Given the description of an element on the screen output the (x, y) to click on. 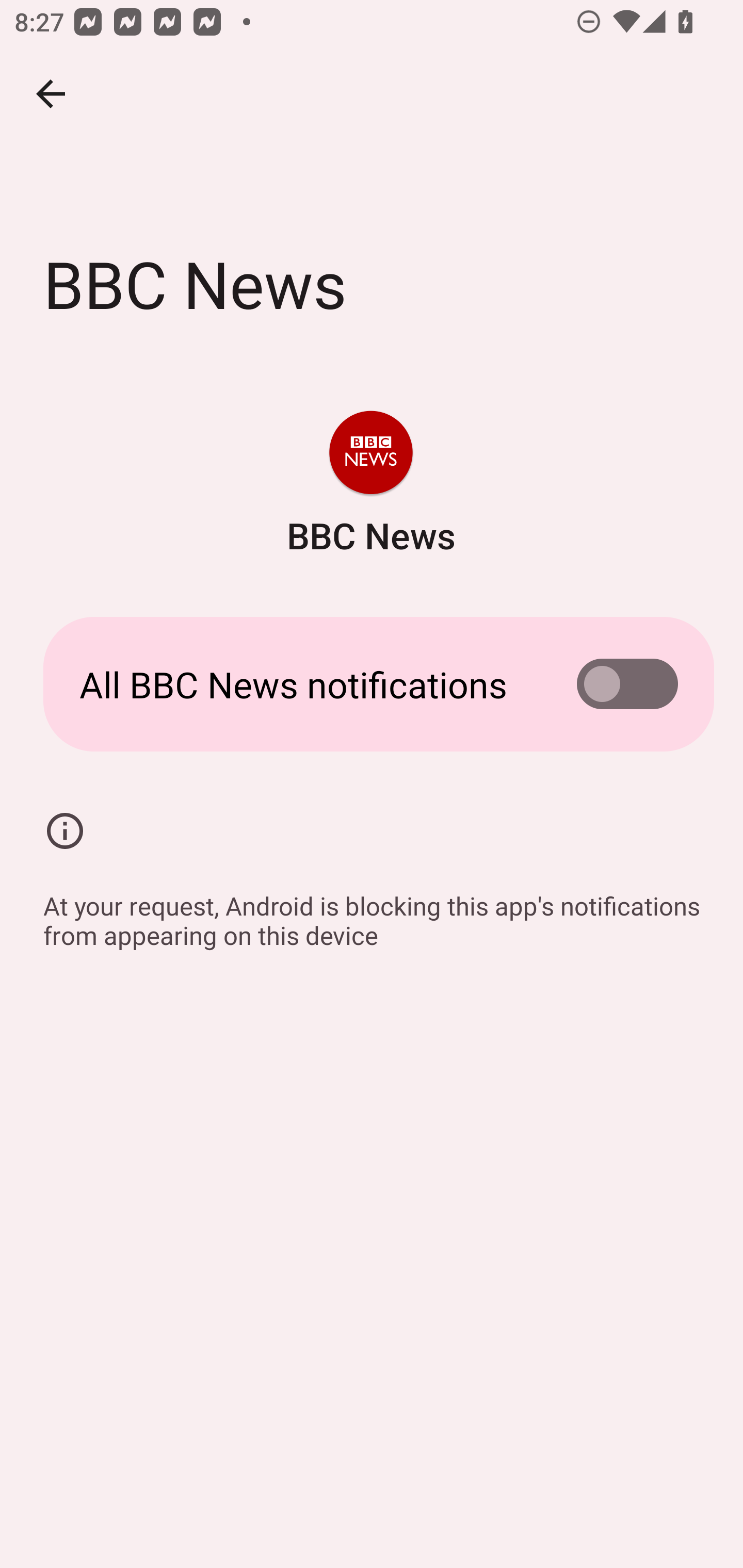
Navigate up (50, 93)
BBC News (370, 484)
All BBC News notifications (371, 684)
